Given the description of an element on the screen output the (x, y) to click on. 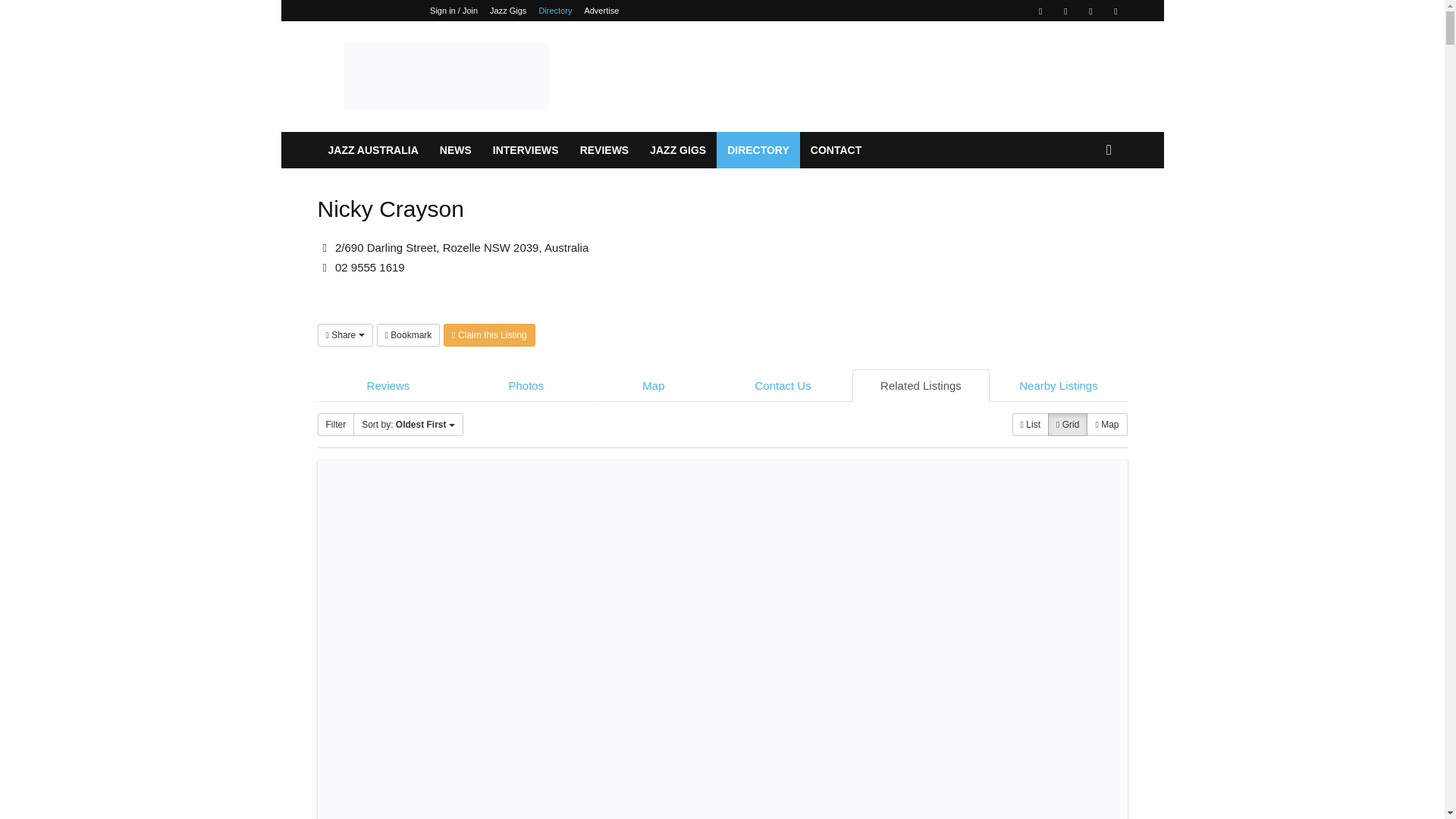
Facebook (1040, 10)
Directory (555, 10)
Jazz Australia Logo (445, 76)
Soundcloud (1090, 10)
Jazz Gigs (507, 10)
Twitter (1114, 10)
Advertise (600, 10)
